Given the description of an element on the screen output the (x, y) to click on. 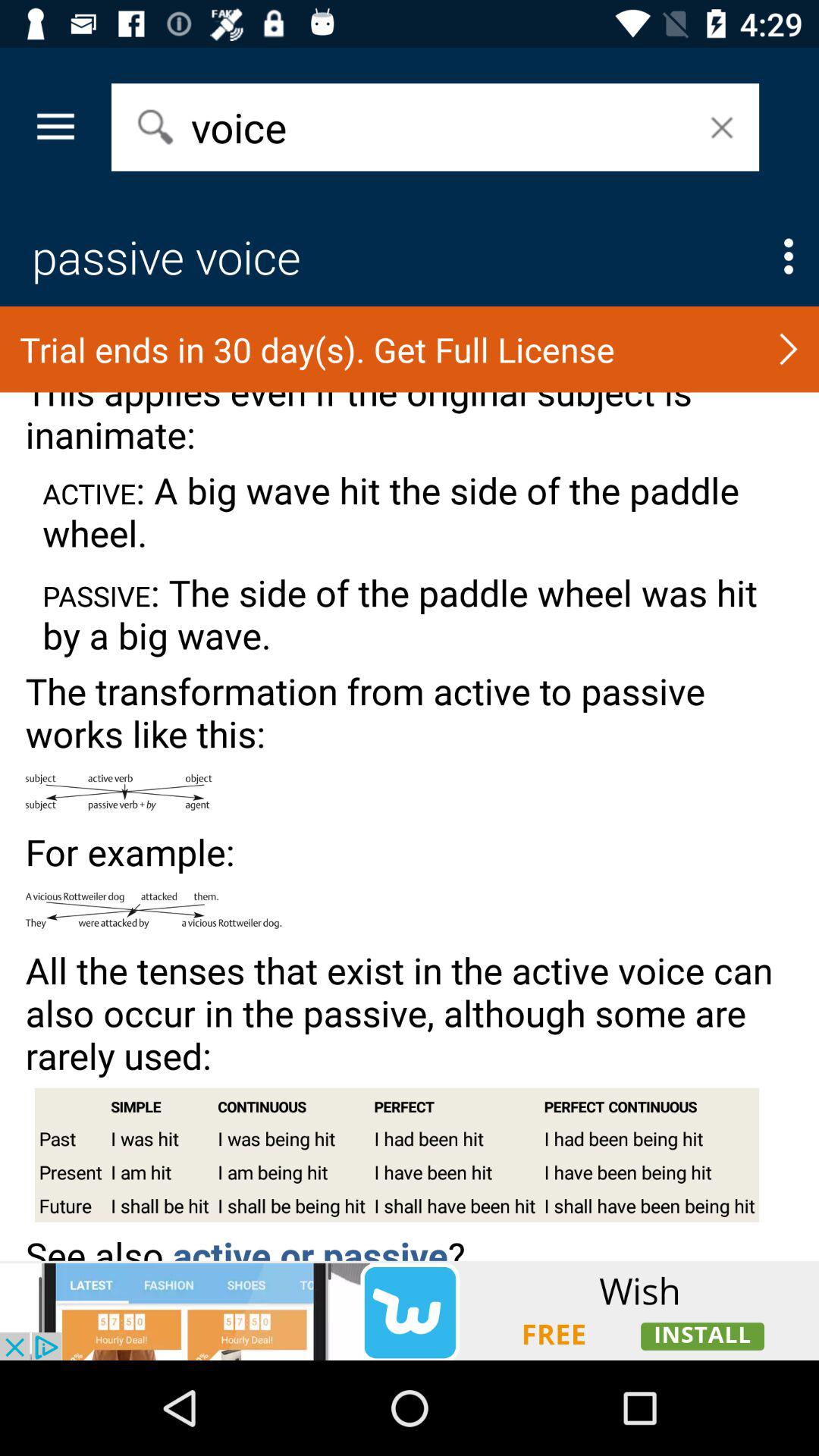
advertisement (409, 1310)
